Given the description of an element on the screen output the (x, y) to click on. 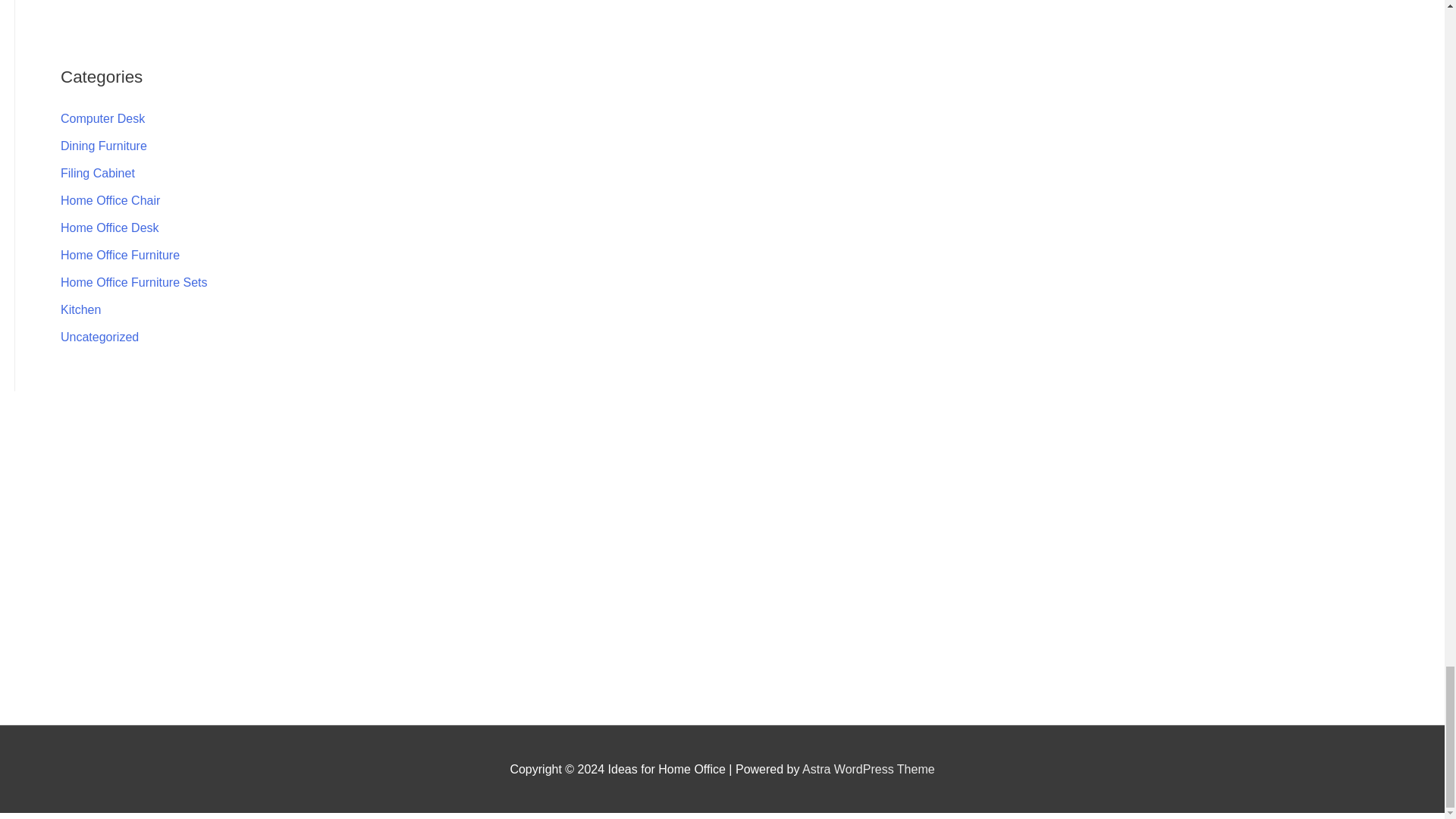
Home Office Furniture Sets (134, 282)
Home Office Furniture (120, 254)
Filing Cabinet (98, 173)
Home Office Chair (110, 200)
Uncategorized (99, 336)
Home Office Desk (109, 227)
Computer Desk (102, 118)
Kitchen (80, 309)
Astra WordPress Theme (868, 768)
Dining Furniture (104, 145)
